Given the description of an element on the screen output the (x, y) to click on. 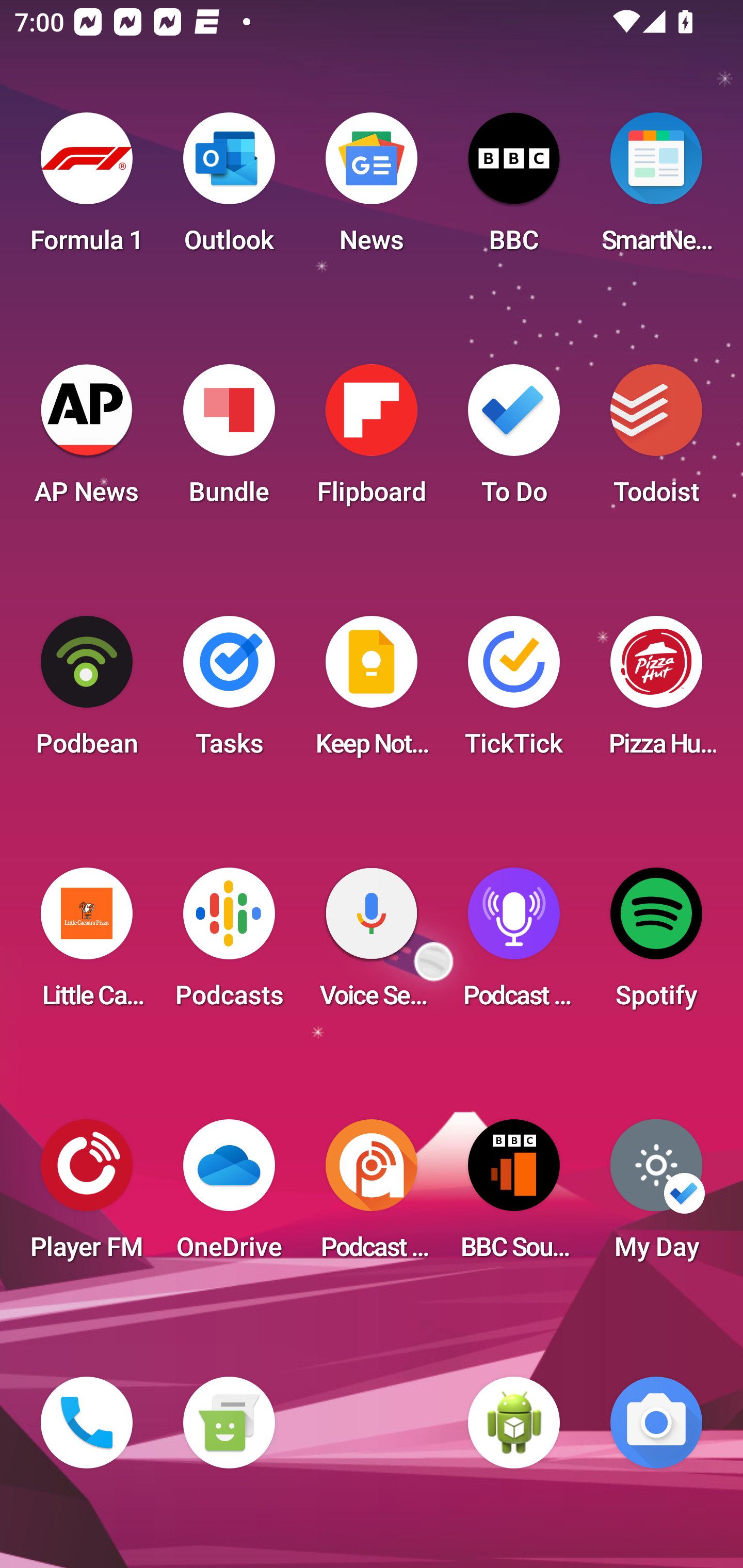
Formula 1 (86, 188)
Outlook (228, 188)
News (371, 188)
BBC (513, 188)
SmartNews (656, 188)
AP News (86, 440)
Bundle (228, 440)
Flipboard (371, 440)
To Do (513, 440)
Todoist (656, 440)
Podbean (86, 692)
Tasks (228, 692)
Keep Notes (371, 692)
TickTick (513, 692)
Pizza Hut HK & Macau (656, 692)
Little Caesars Pizza (86, 943)
Podcasts (228, 943)
Voice Search (371, 943)
Podcast Player (513, 943)
Spotify (656, 943)
Player FM (86, 1195)
OneDrive (228, 1195)
Podcast Addict (371, 1195)
BBC Sounds (513, 1195)
My Day (656, 1195)
Phone (86, 1422)
Messaging (228, 1422)
WebView Browser Tester (513, 1422)
Camera (656, 1422)
